Given the description of an element on the screen output the (x, y) to click on. 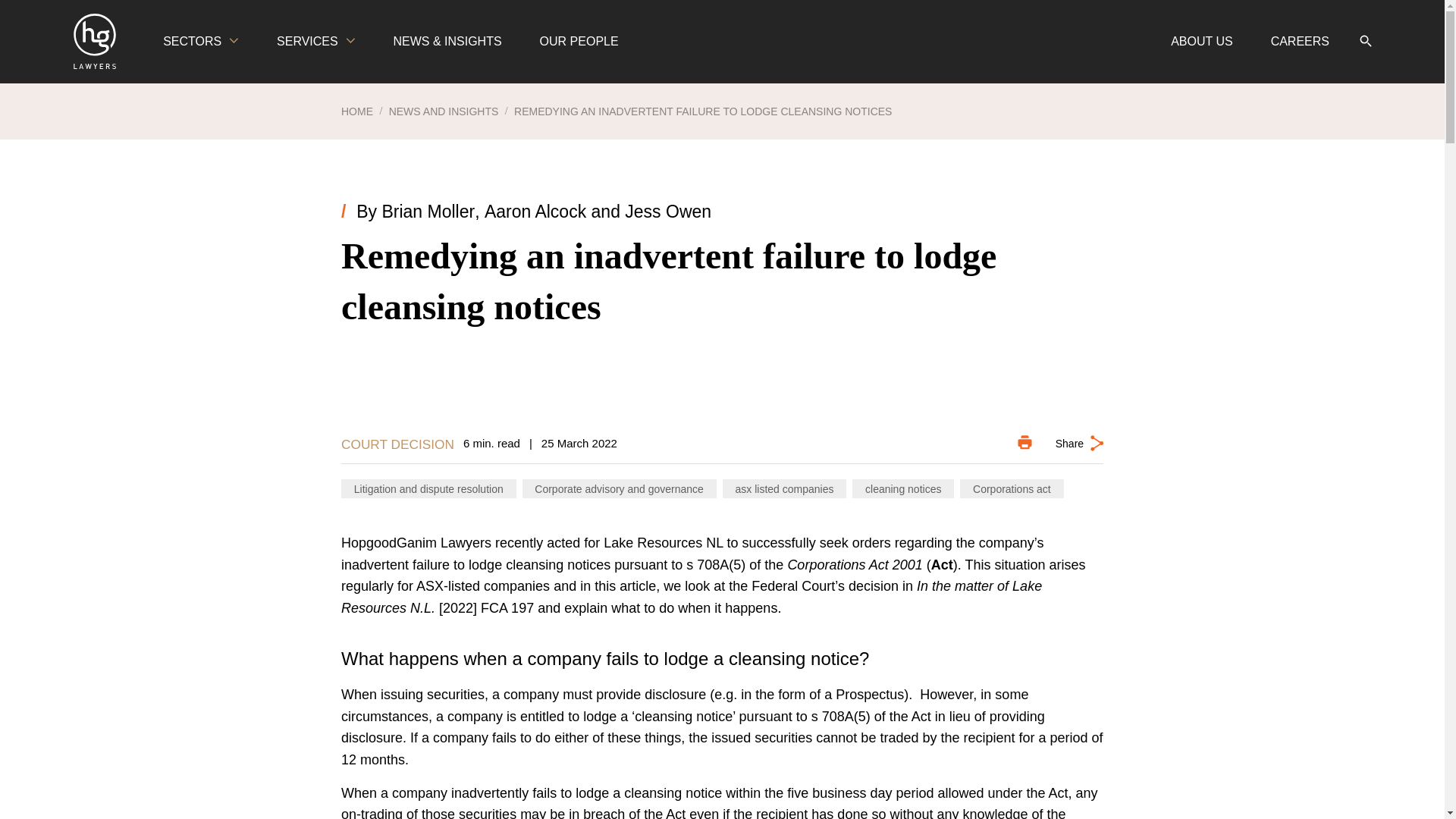
ABOUT US (1201, 41)
CAREERS (1299, 41)
OUR PEOPLE (579, 41)
SECTORS (200, 41)
SERVICES (315, 41)
